Given the description of an element on the screen output the (x, y) to click on. 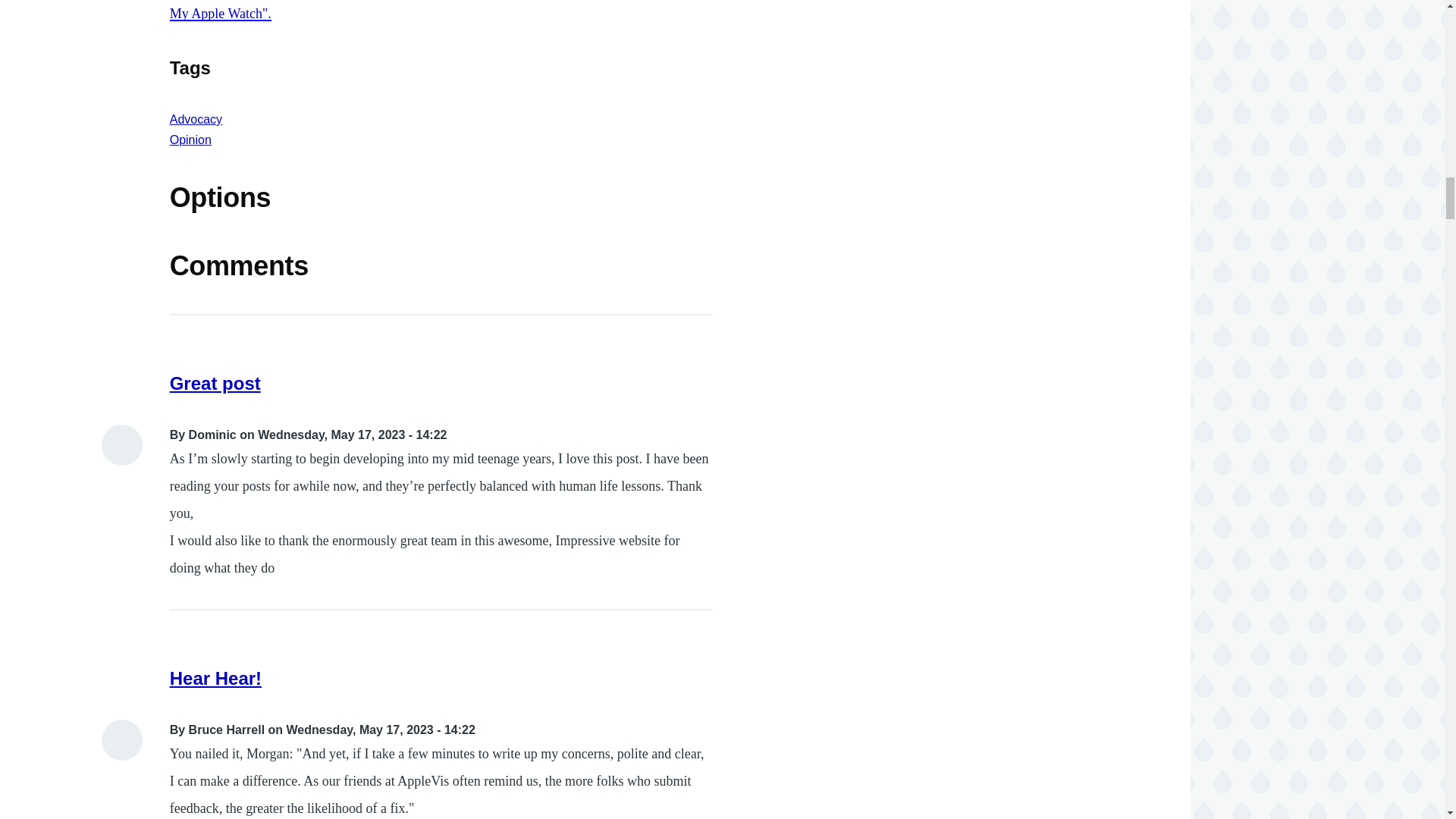
Great post (215, 383)
Advocacy (196, 119)
Hear Hear! (216, 678)
Opinion (190, 139)
"Say What? : Hearing Aids, iPhones and My Apple Watch". (438, 10)
